Given the description of an element on the screen output the (x, y) to click on. 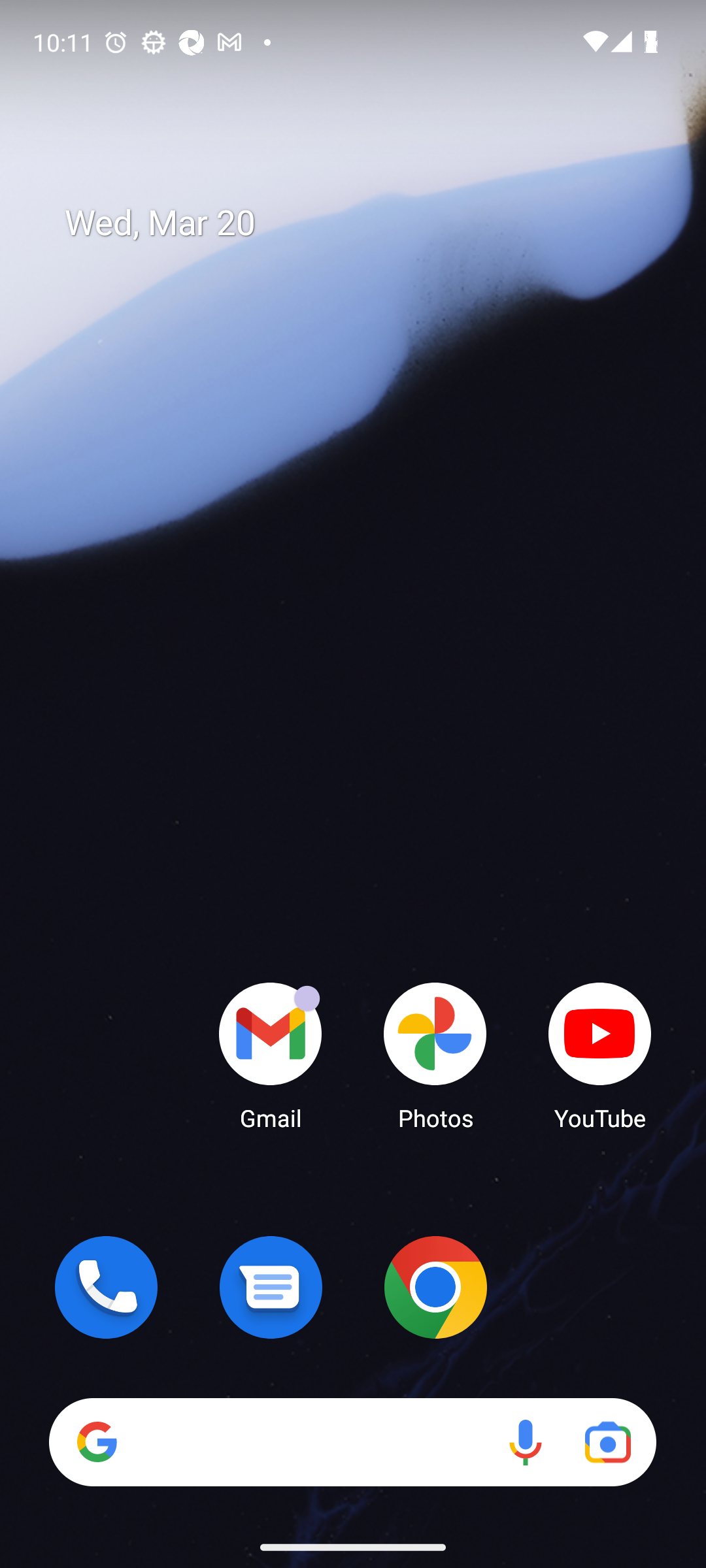
Wed, Mar 20 (366, 223)
Gmail Gmail has 22 notifications (270, 1054)
Photos (435, 1054)
YouTube (599, 1054)
Phone (106, 1287)
Messages (270, 1287)
Chrome (435, 1287)
Voice search (525, 1441)
Google Lens (607, 1441)
